Given the description of an element on the screen output the (x, y) to click on. 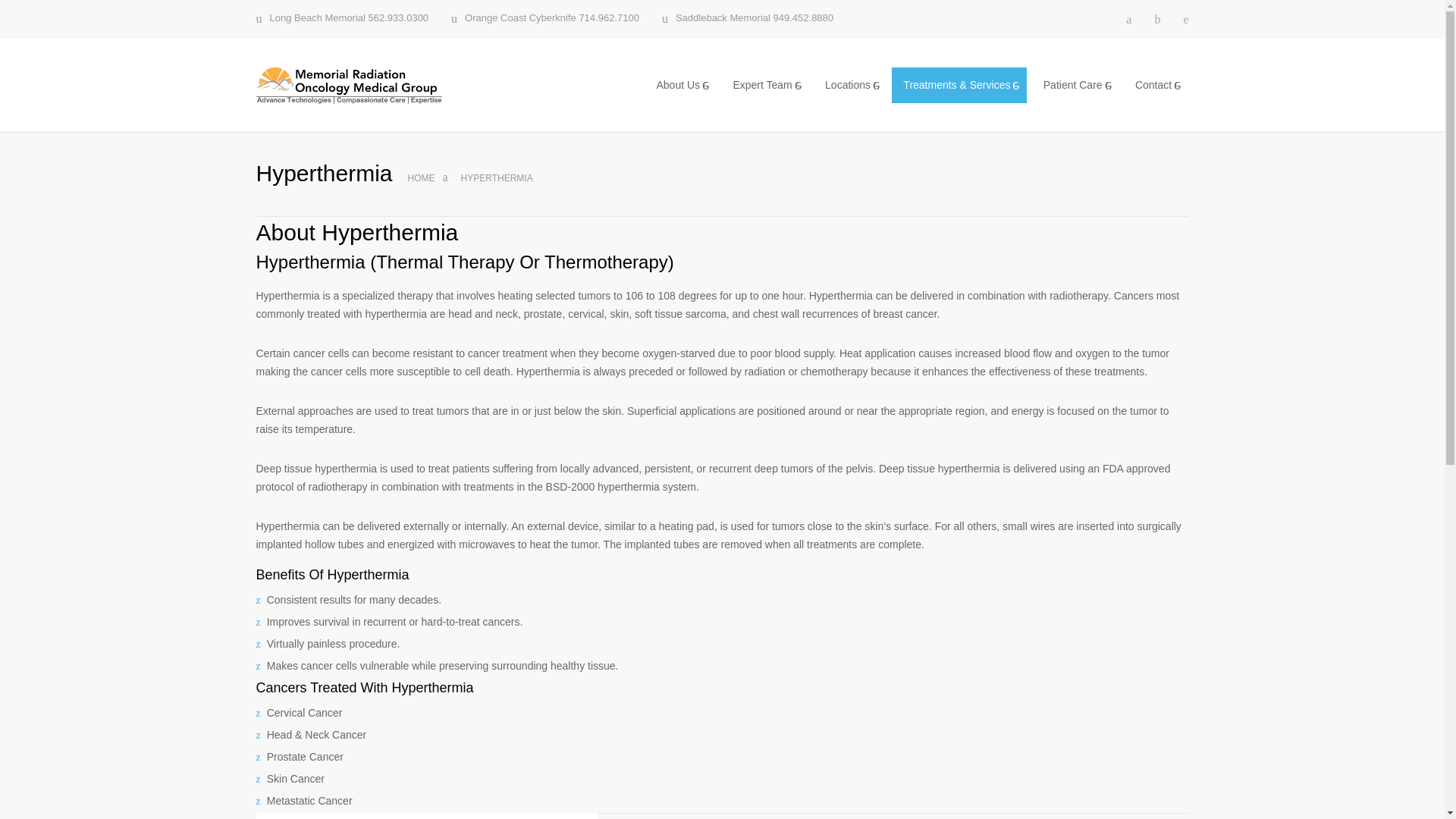
Expert Team (764, 85)
Locations (849, 85)
About Us (679, 85)
Contact (1155, 85)
Patient Care (1074, 85)
Home (421, 177)
